Given the description of an element on the screen output the (x, y) to click on. 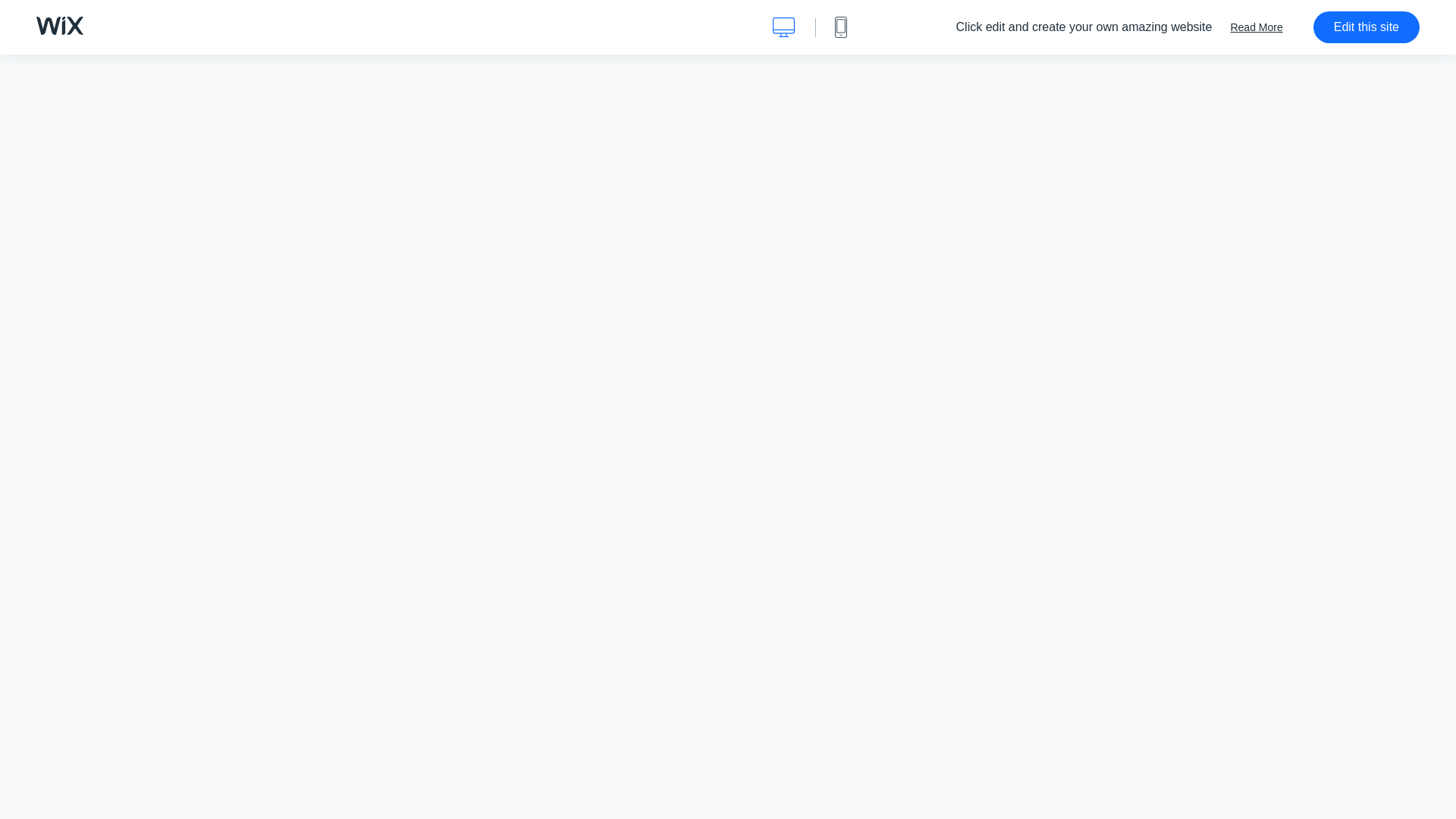
Read More (1256, 27)
Edit this site (1366, 27)
